Given the description of an element on the screen output the (x, y) to click on. 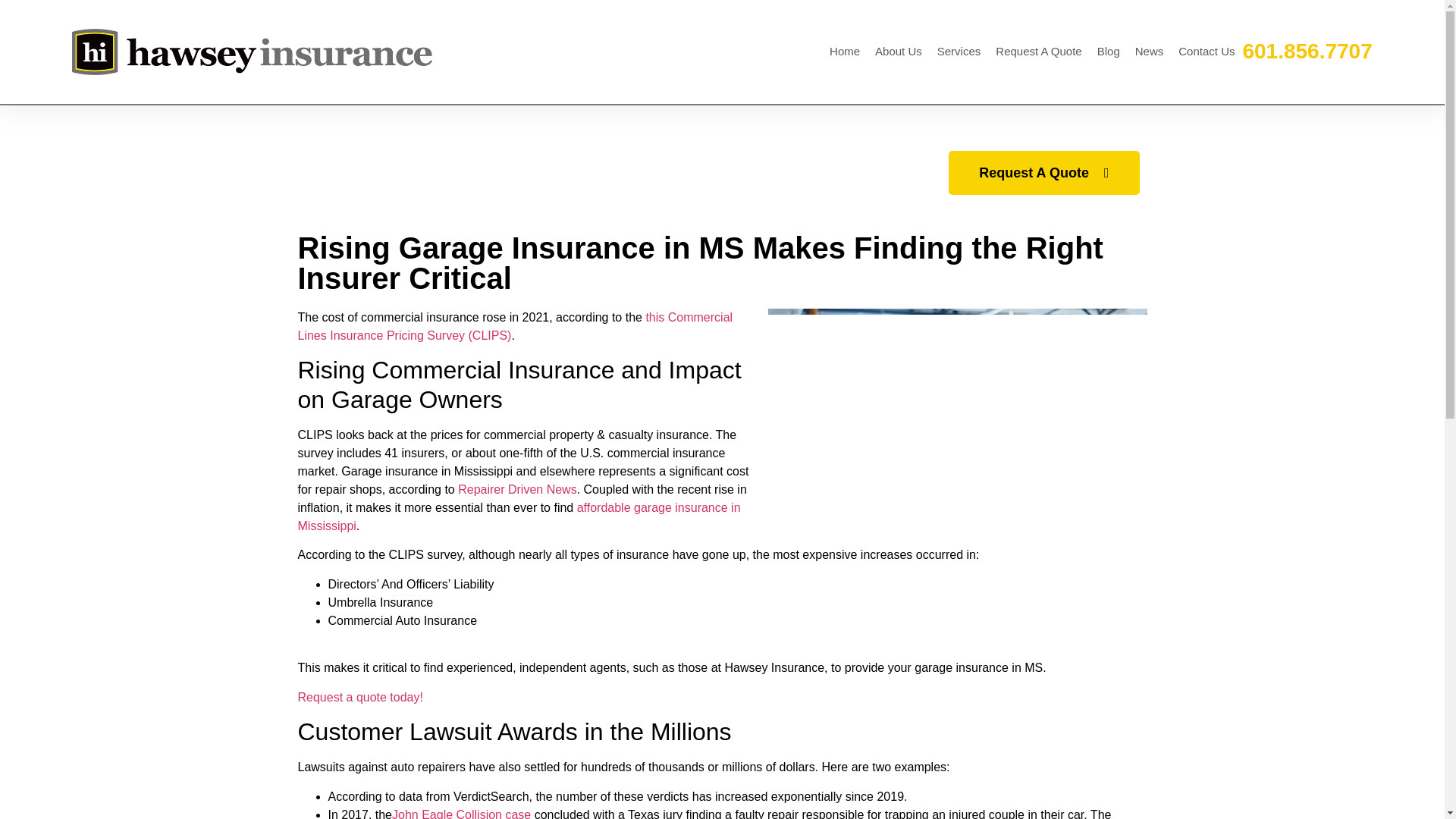
Home (844, 51)
Request A Quote (1043, 172)
About Us (898, 51)
601.856.7707 (1306, 51)
Blog (1107, 51)
Repairer Driven News (517, 489)
News (1149, 51)
Services (959, 51)
Request A Quote (1038, 51)
Contact Us (1205, 51)
